Given the description of an element on the screen output the (x, y) to click on. 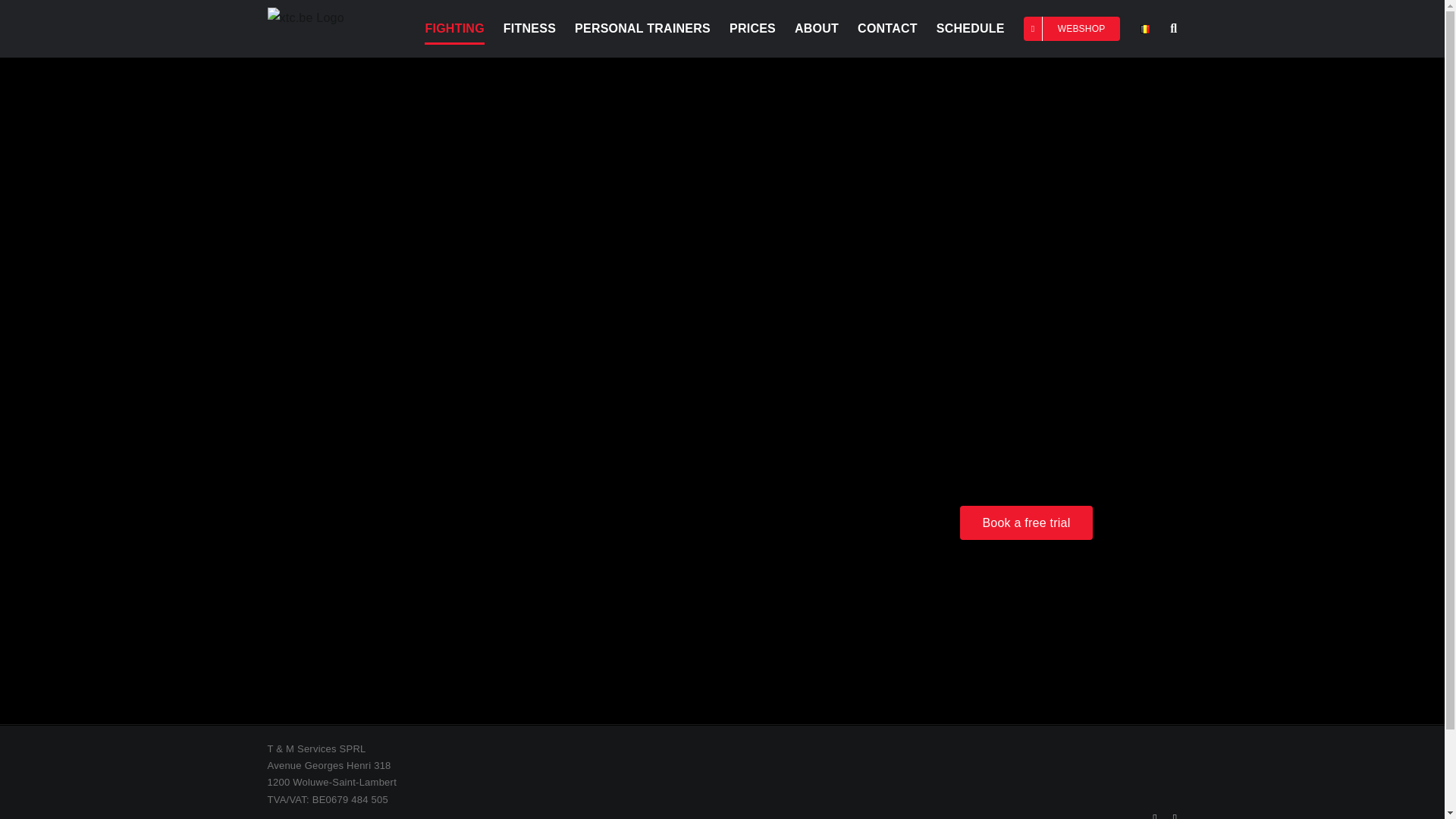
FIGHTING (454, 28)
CONTACT (887, 28)
PERSONAL TRAINERS (642, 28)
WEBSHOP (1072, 28)
SCHEDULE (970, 28)
FITNESS (529, 28)
